Given the description of an element on the screen output the (x, y) to click on. 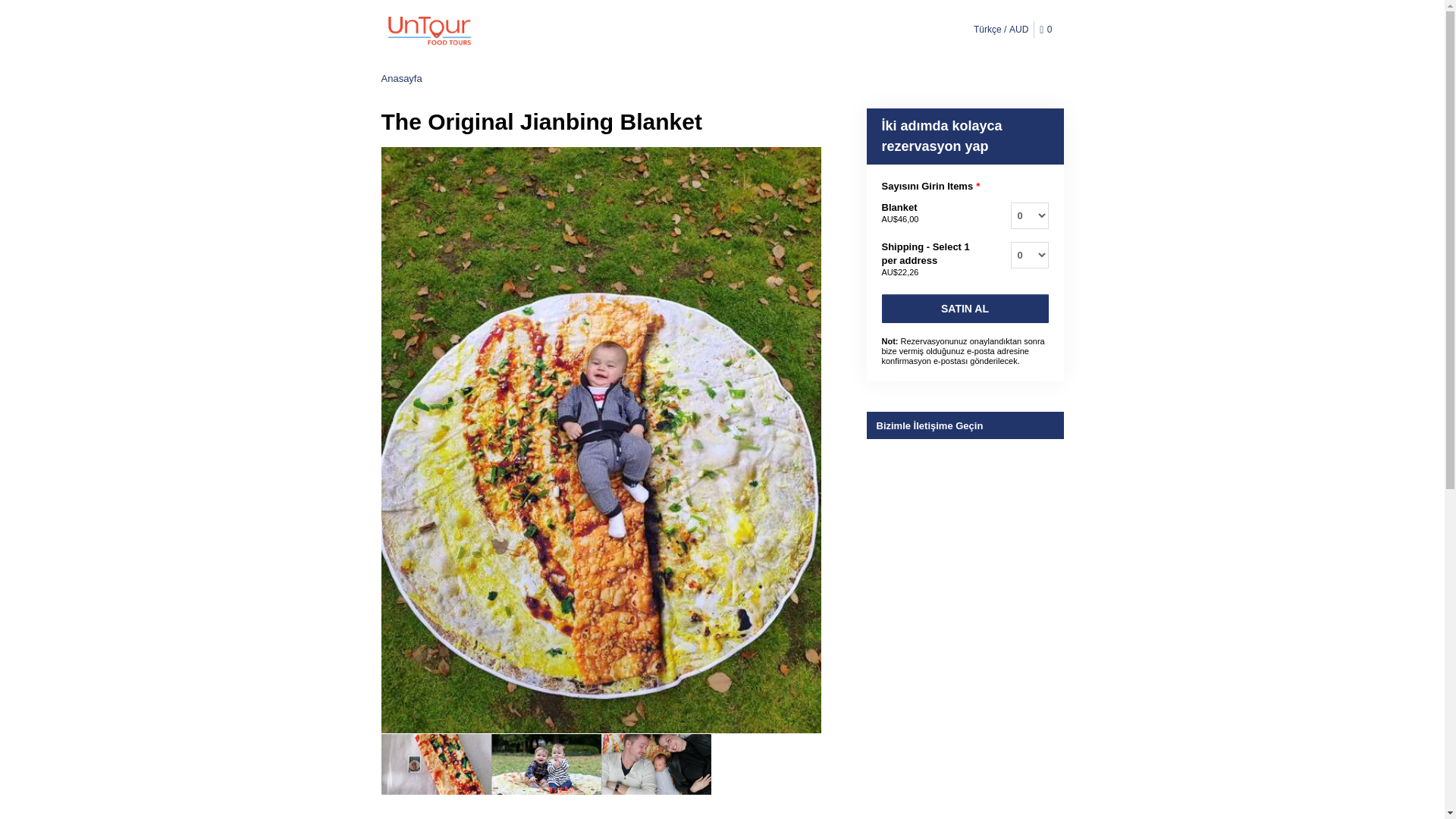
Anasayfa (401, 78)
Estimated conversion from 31 (899, 218)
Estimated conversion from 15 (899, 271)
0 (1047, 30)
SATIN AL (964, 308)
